Given the description of an element on the screen output the (x, y) to click on. 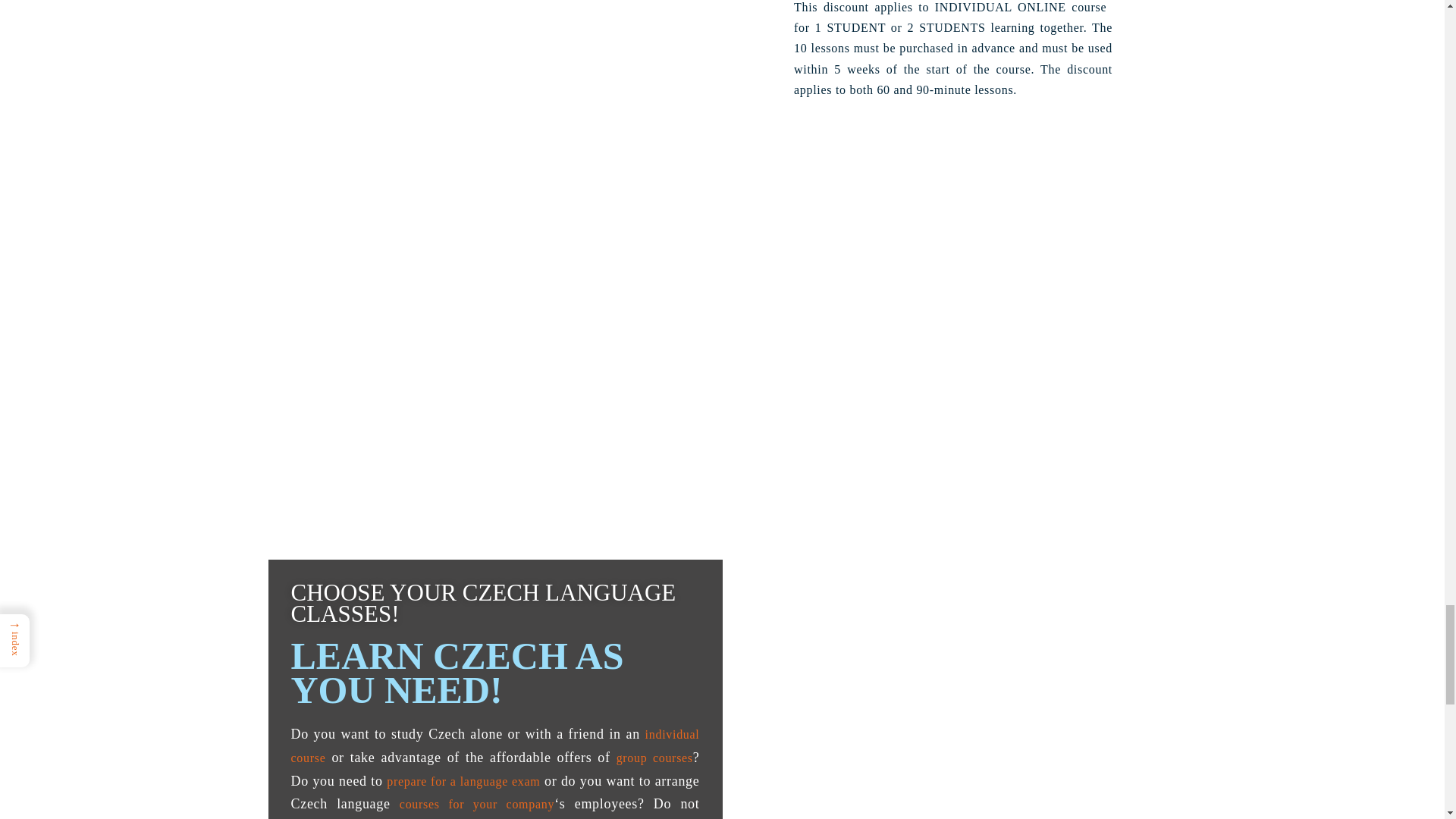
courses for your company (476, 803)
prepare for a language exam (463, 780)
group courses (654, 757)
individual course (495, 746)
